Given the description of an element on the screen output the (x, y) to click on. 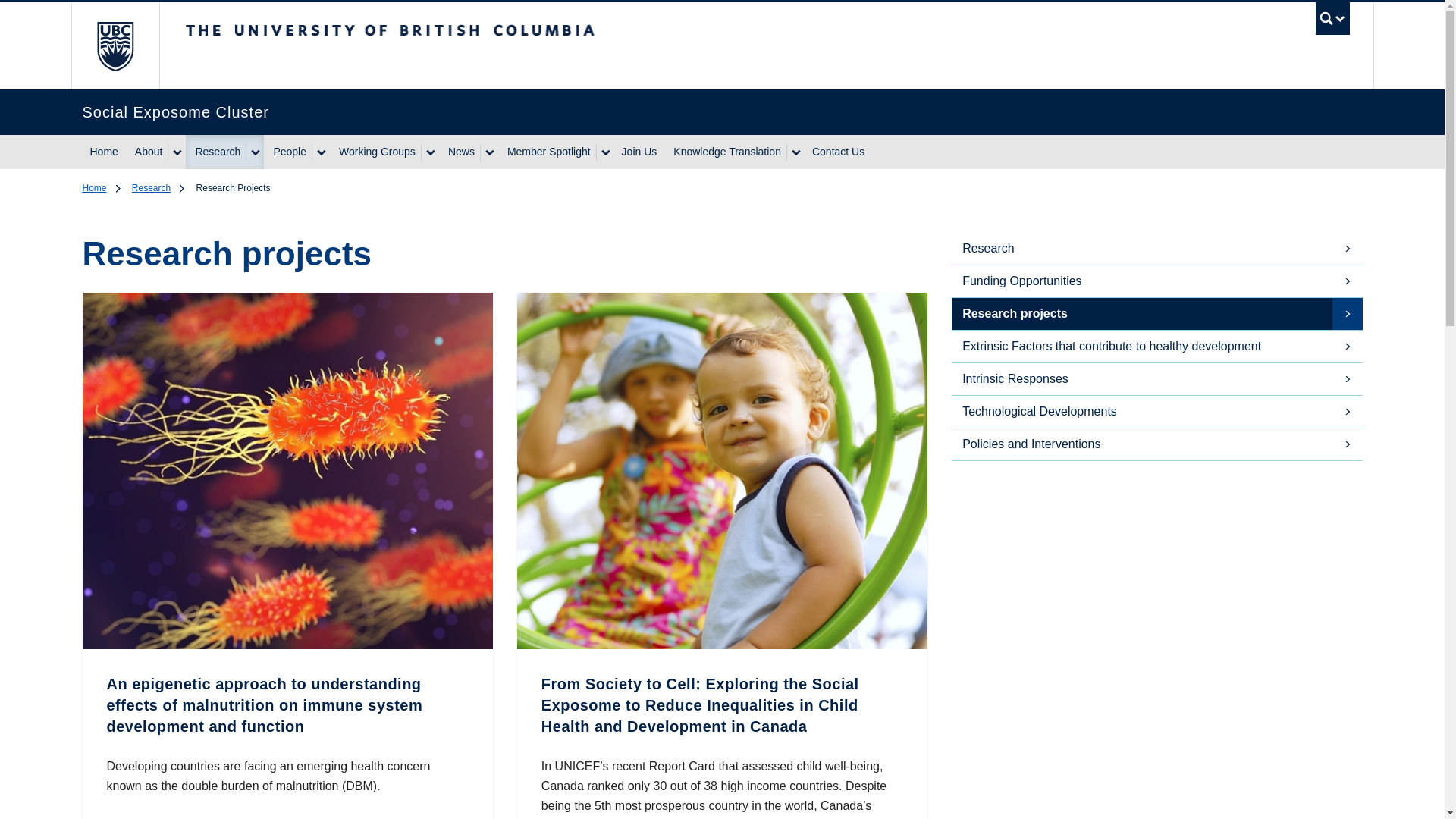
UBC Search (1331, 21)
People (287, 151)
Social Exposome Cluster (700, 112)
Join Us (639, 151)
Funding Opportunities (1156, 281)
Home (103, 151)
About (146, 151)
The University of British Columbia (517, 37)
The University of British Columbia (114, 45)
Research (216, 151)
